Given the description of an element on the screen output the (x, y) to click on. 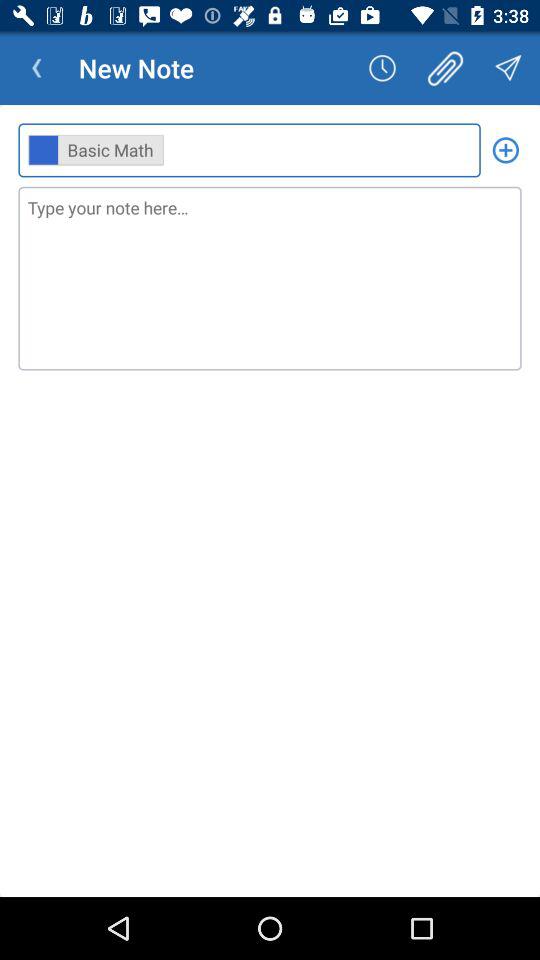
open the icon below the ,,  item (269, 278)
